Given the description of an element on the screen output the (x, y) to click on. 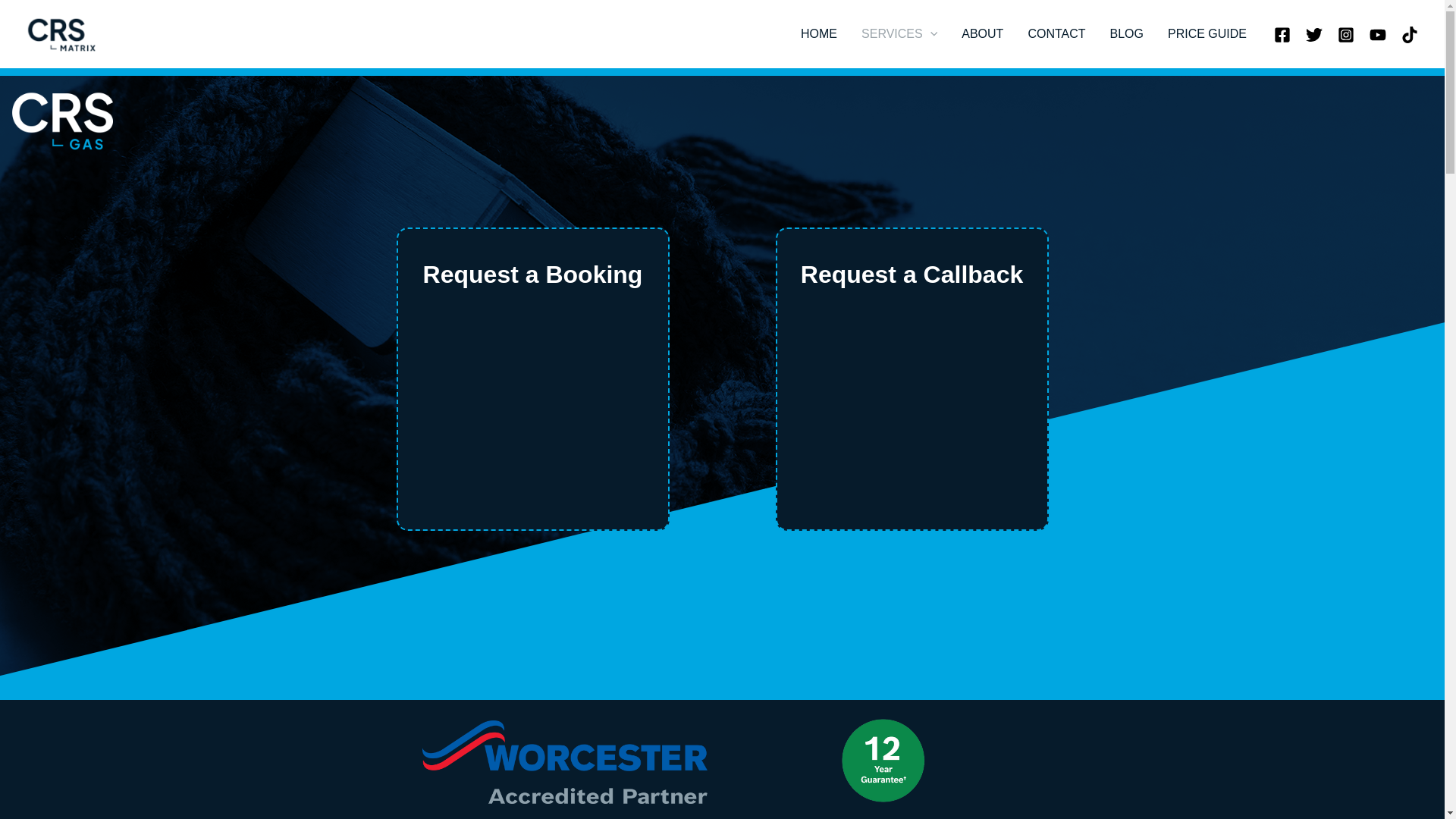
CONTACT (1055, 33)
Logo 200h Gas Trns (61, 120)
SERVICES (898, 33)
ABOUT (981, 33)
Worcester12 (883, 761)
WorcesterBosch (564, 761)
PRICE GUIDE (1207, 33)
